Given the description of an element on the screen output the (x, y) to click on. 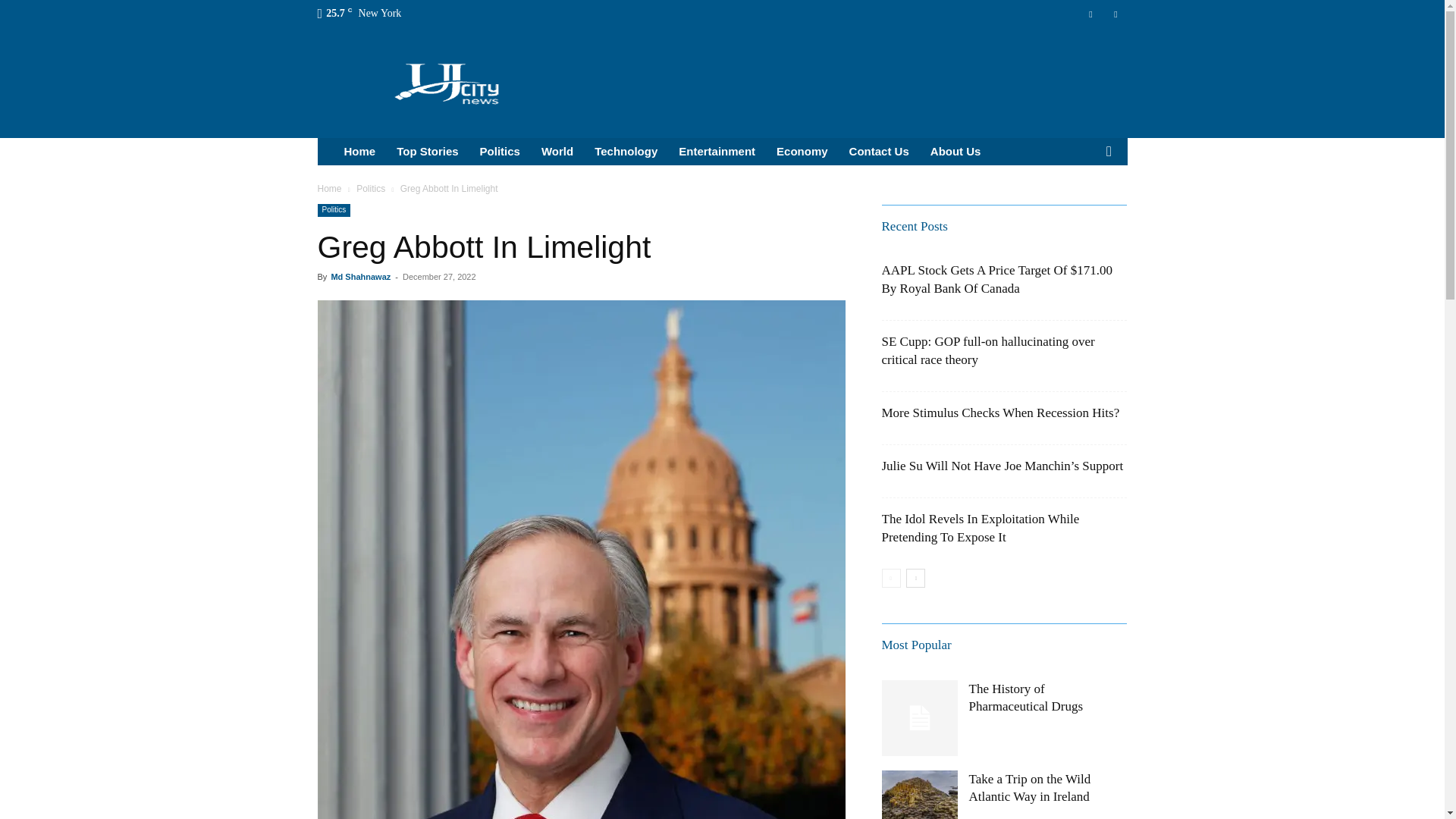
World (557, 151)
Md Shahnawaz (360, 276)
Entertainment (716, 151)
Home (360, 151)
Politics (499, 151)
View all posts in Politics (370, 188)
About Us (955, 151)
The Union Journal (446, 82)
Home (328, 188)
